Given the description of an element on the screen output the (x, y) to click on. 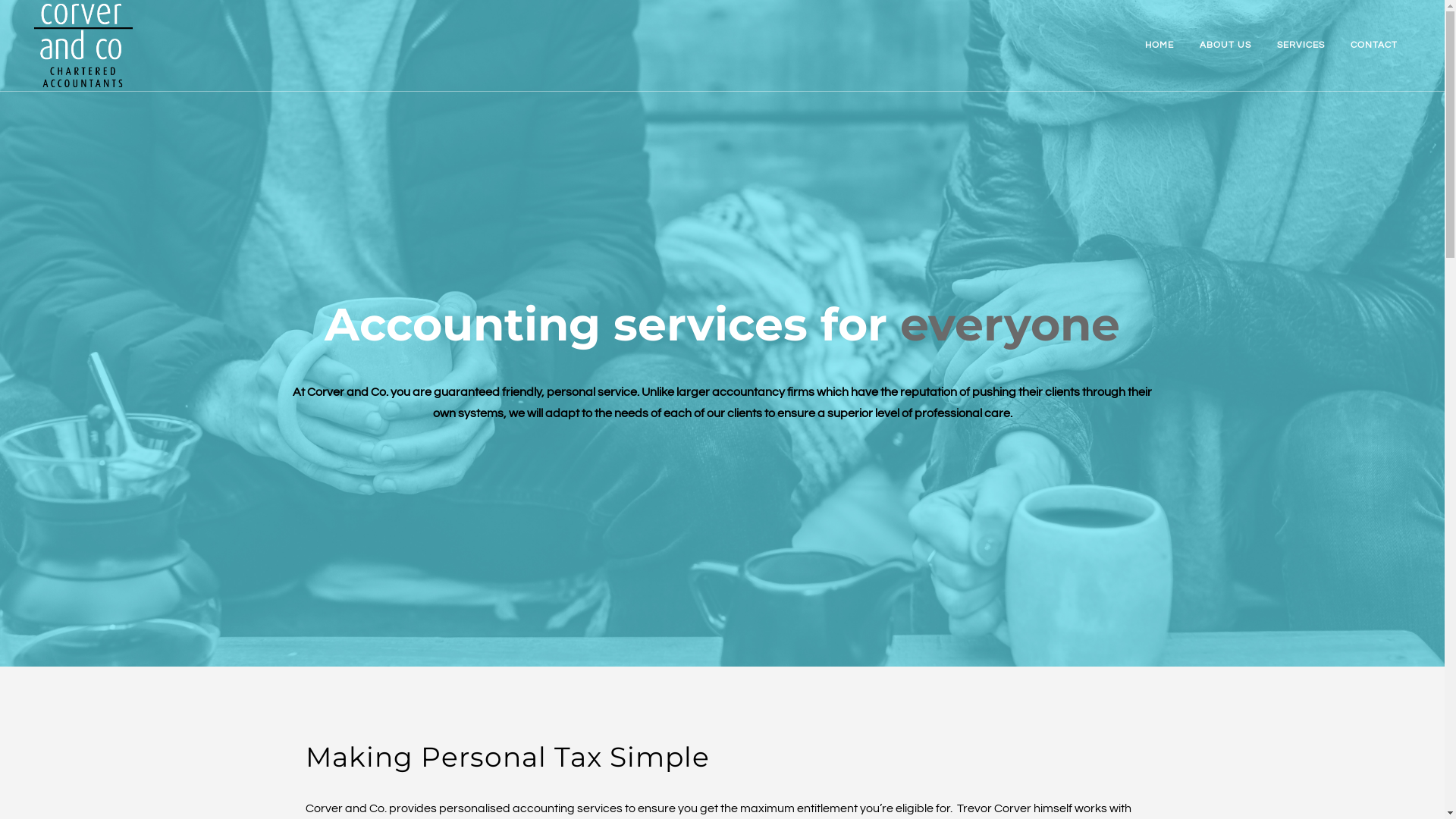
STUDIO SIXTY8 Element type: text (790, 804)
CONTACT Element type: text (1373, 45)
SERVICES Element type: text (1300, 45)
HOME Element type: text (1159, 45)
ABOUT US Element type: text (1225, 45)
